Given the description of an element on the screen output the (x, y) to click on. 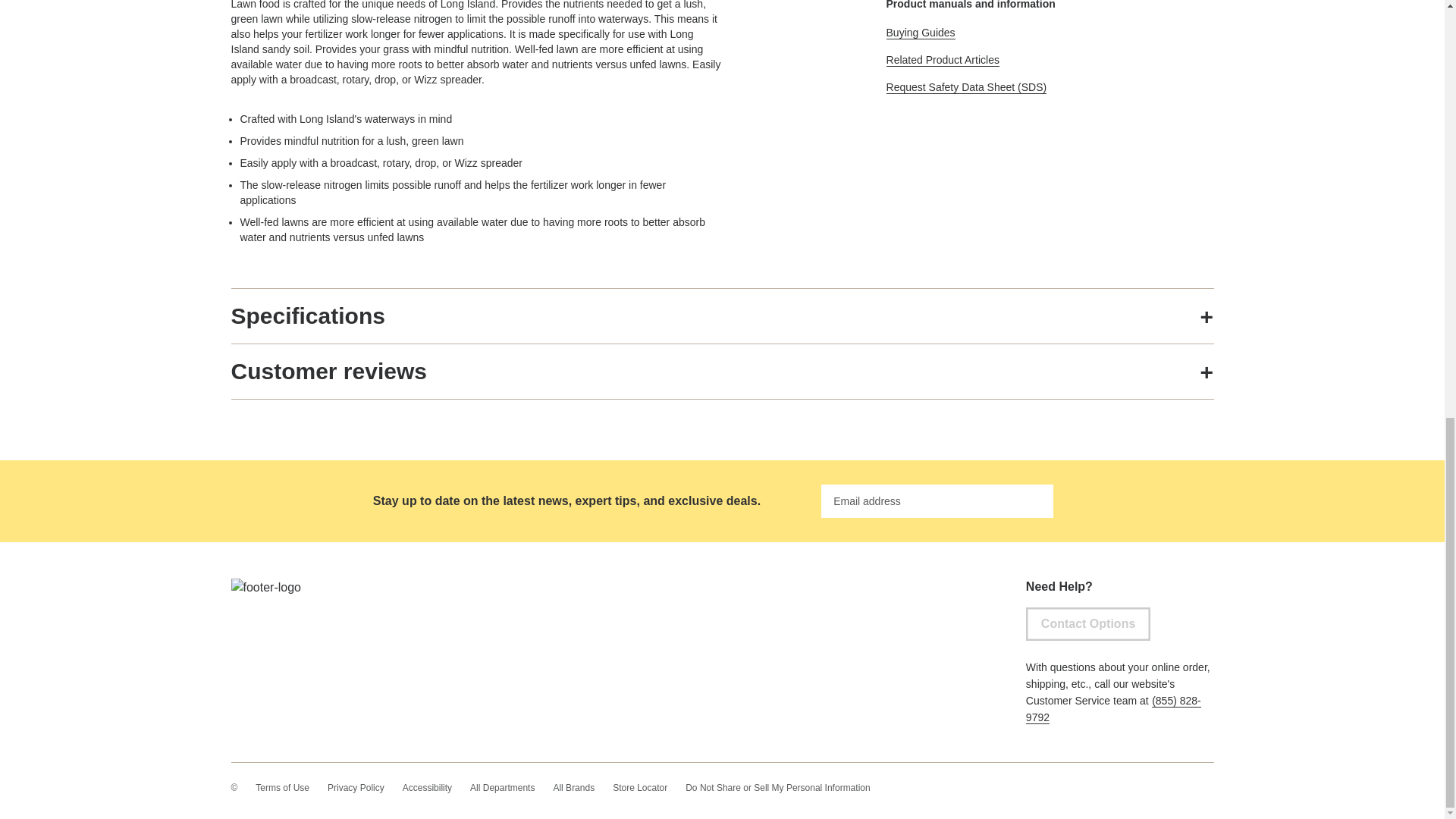
Accessibility (427, 787)
Store Locator (639, 787)
Privacy Policy (355, 787)
Do Not Share or Sell My Personal Information (777, 787)
All Brands (573, 787)
Related Product Articles (942, 60)
Terms of Use (282, 787)
Buying Guides (920, 32)
All Departments (502, 787)
Contact Options (1088, 623)
